Given the description of an element on the screen output the (x, y) to click on. 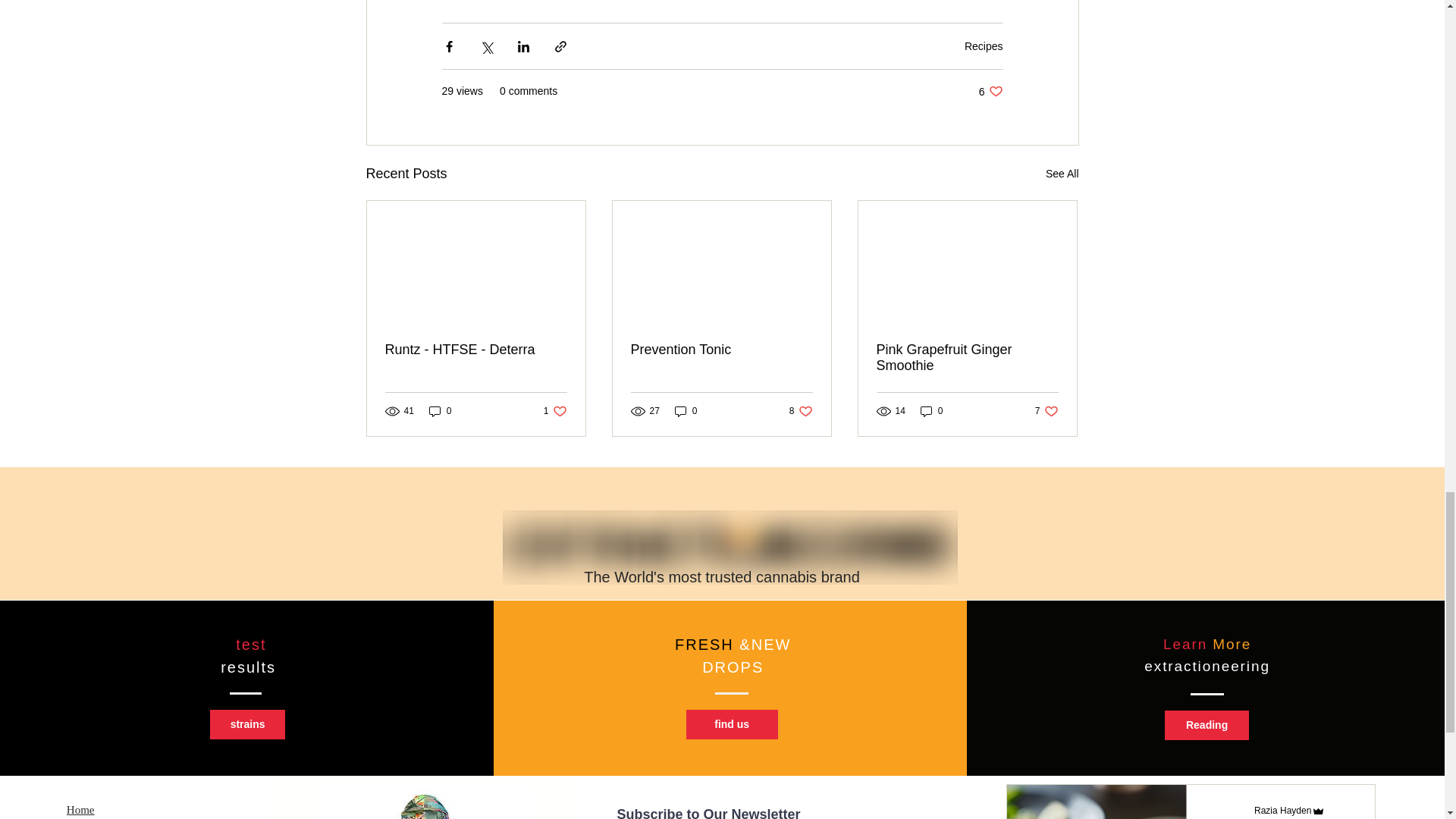
0 (685, 411)
Razia Hayden (1282, 810)
Runtz - HTFSE - Deterra (476, 349)
See All (1061, 173)
0 (440, 411)
Jul 21, 2022 (1278, 818)
Recipes (555, 411)
Prevention Tonic (983, 46)
